Given the description of an element on the screen output the (x, y) to click on. 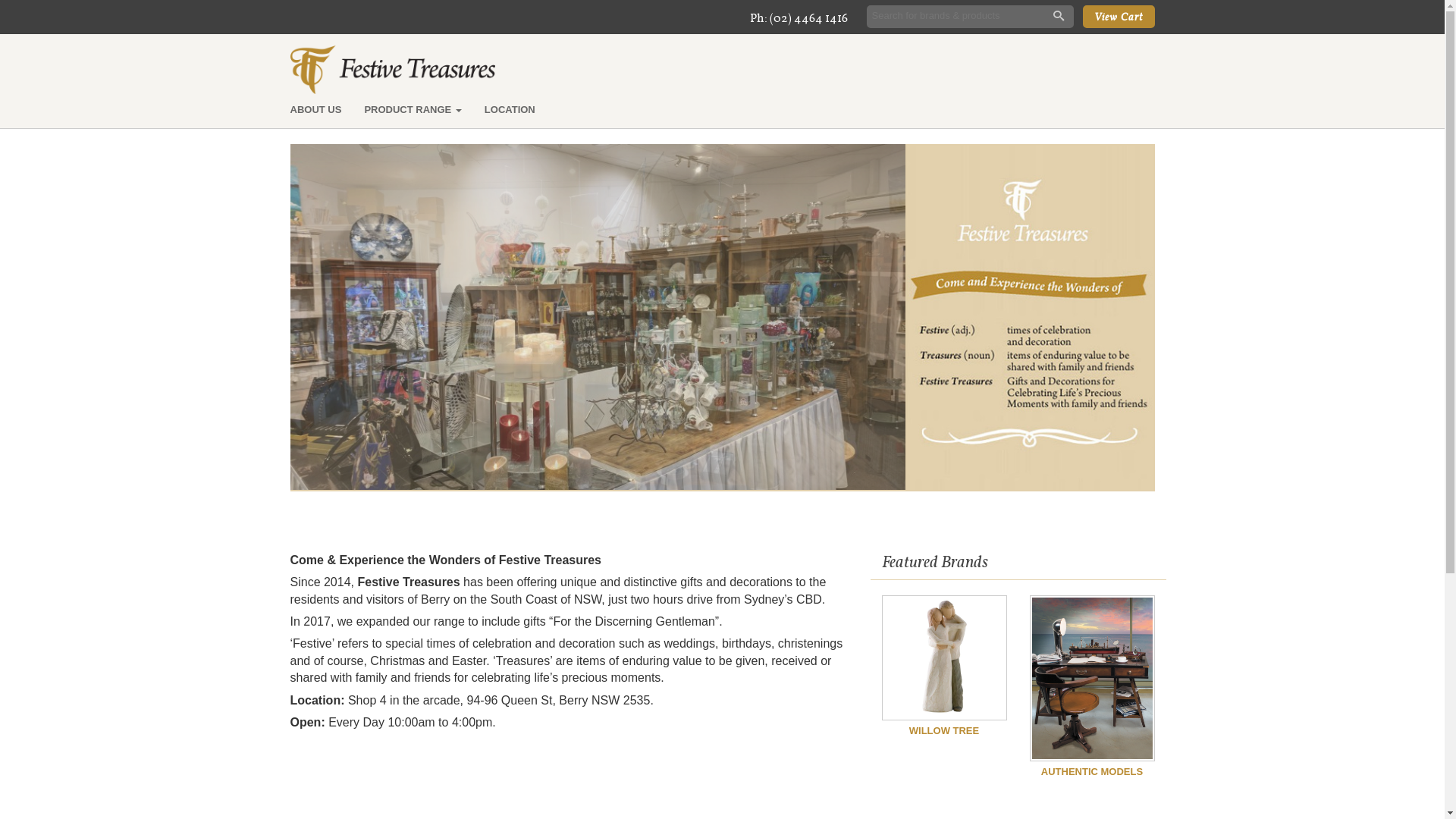
AUTHENTIC MODELS Element type: text (1091, 686)
WILLOW TREE Element type: text (943, 665)
PRODUCT RANGE Element type: text (412, 109)
LOCATION Element type: text (509, 109)
View Cart Element type: text (1118, 16)
ABOUT US Element type: text (316, 109)
